Given the description of an element on the screen output the (x, y) to click on. 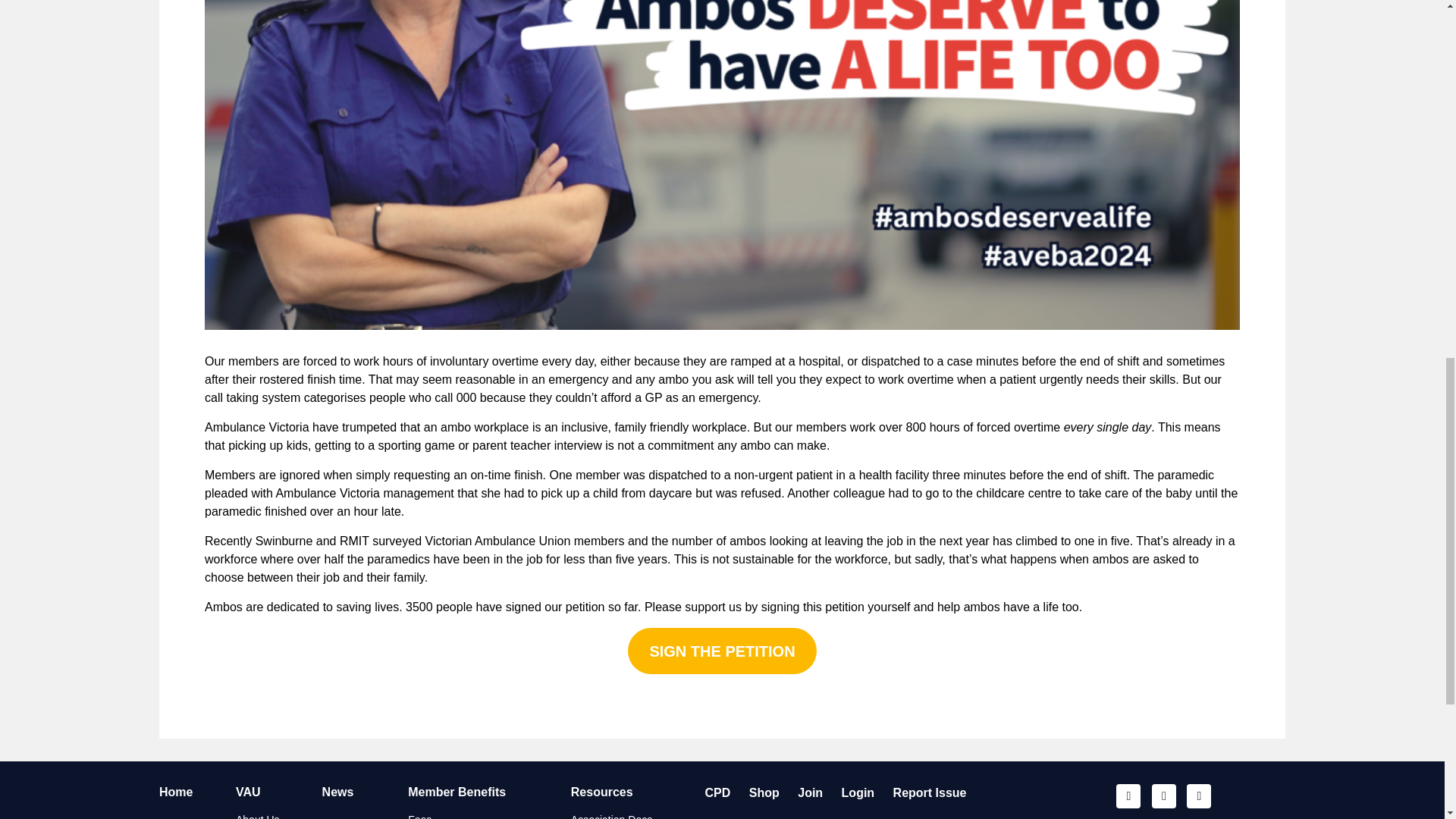
About Us (257, 816)
Association Docs (611, 816)
Home (175, 791)
VAU (247, 791)
Report Issue (929, 792)
CPD (717, 792)
News (337, 791)
Shop (763, 792)
Resources (601, 791)
SIGN THE PETITION (721, 651)
